Given the description of an element on the screen output the (x, y) to click on. 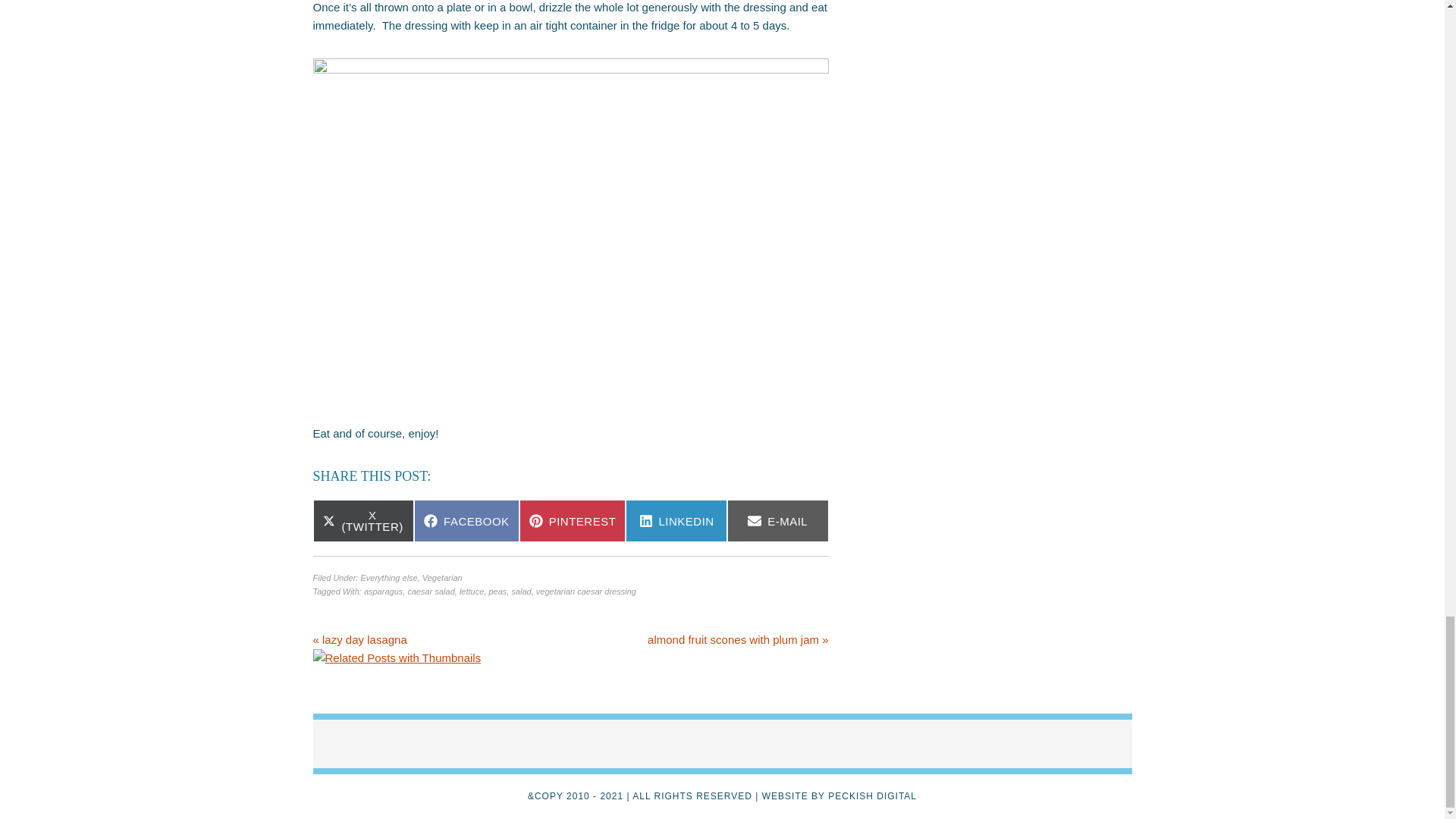
vegetarian caesar dressing (585, 591)
salad (521, 591)
PINTEREST (572, 520)
E-MAIL (777, 520)
Everything else (387, 577)
lettuce (471, 591)
asparagus (383, 591)
caesar salad (430, 591)
FACEBOOK (466, 520)
LINKEDIN (676, 520)
Vegetarian (442, 577)
peas (496, 591)
